Given the description of an element on the screen output the (x, y) to click on. 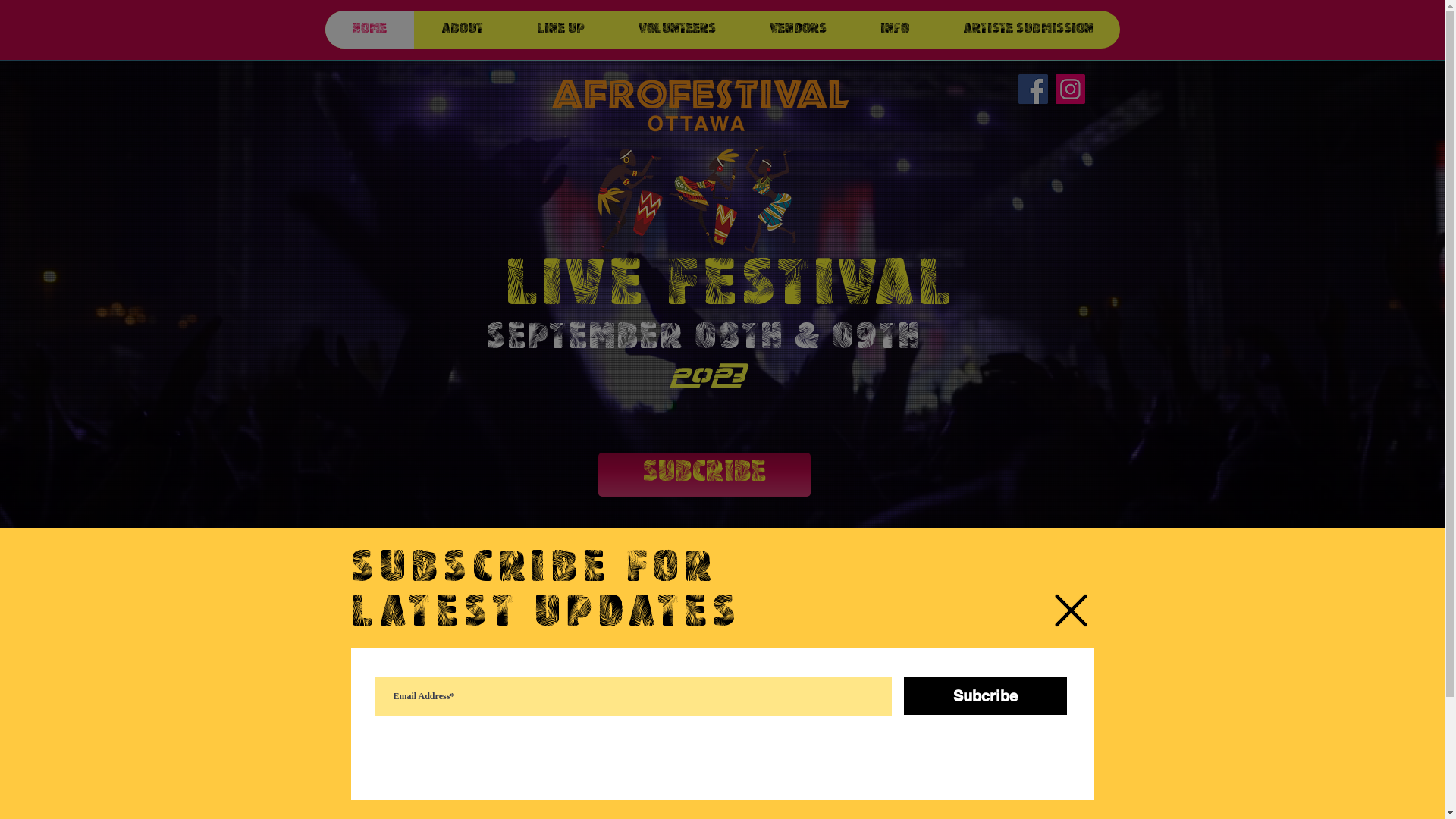
VENDORS Element type: text (796, 29)
HOME Element type: text (368, 29)
ABOUT Element type: text (462, 29)
SUBCRIBE Element type: text (703, 474)
VOLUNTEERS Element type: text (676, 29)
INFO Element type: text (893, 29)
Back to site Element type: hover (1070, 610)
ARTISTE SUBMISSION Element type: text (1027, 29)
Subcribe Element type: text (984, 696)
